Given the description of an element on the screen output the (x, y) to click on. 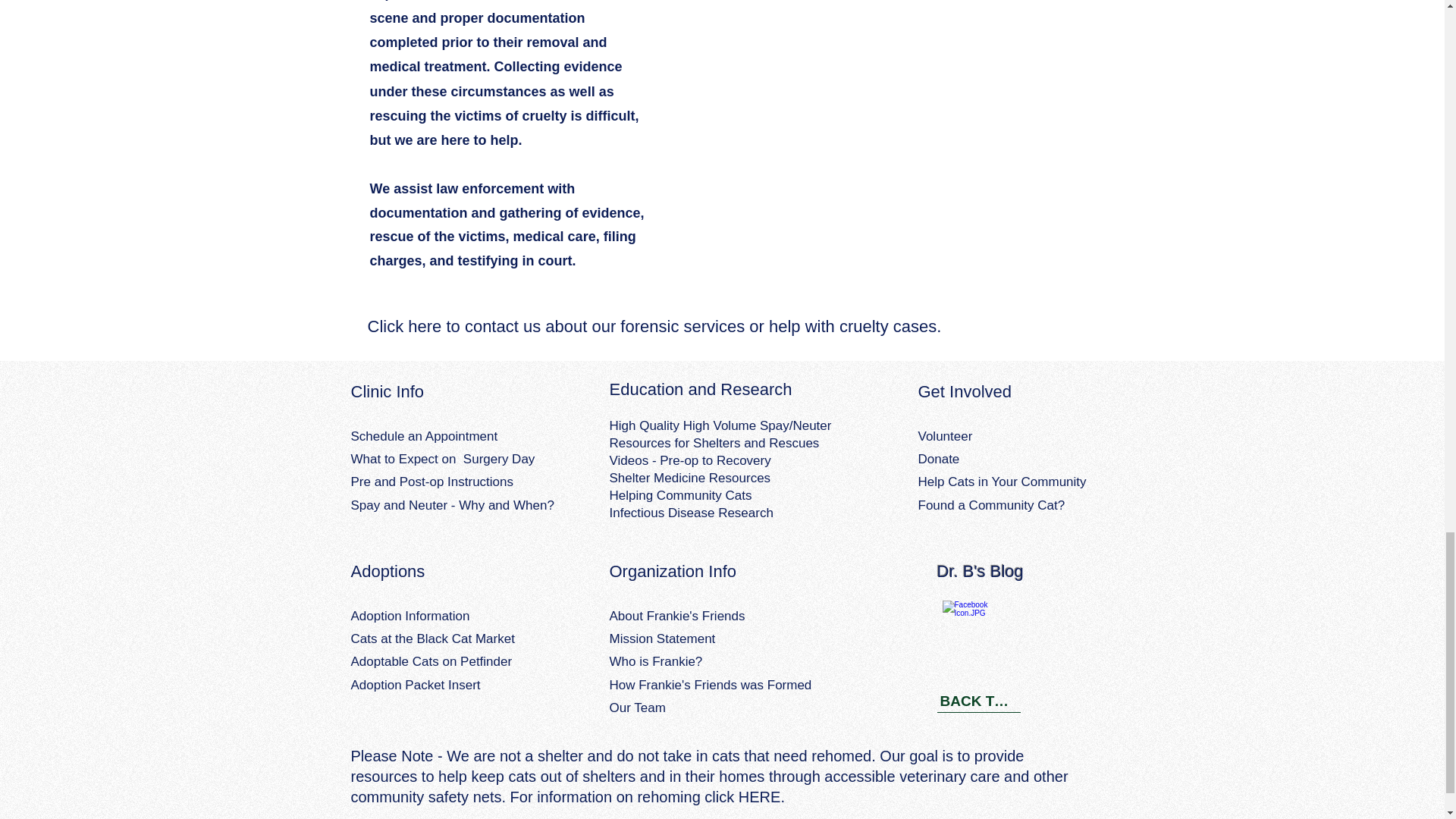
Who is Frankie? (656, 661)
Found a Community Cat? (990, 504)
Cats at the Black Cat Market (431, 638)
What to Expect on  Surgery Day (442, 459)
Dr. B's Blog (980, 570)
How Frankie's Friends was Formed (711, 685)
Helping Community Cats (681, 495)
Infectious Disease Research (691, 513)
Our Team (637, 707)
Help Cats in Your Community (1001, 481)
